Given the description of an element on the screen output the (x, y) to click on. 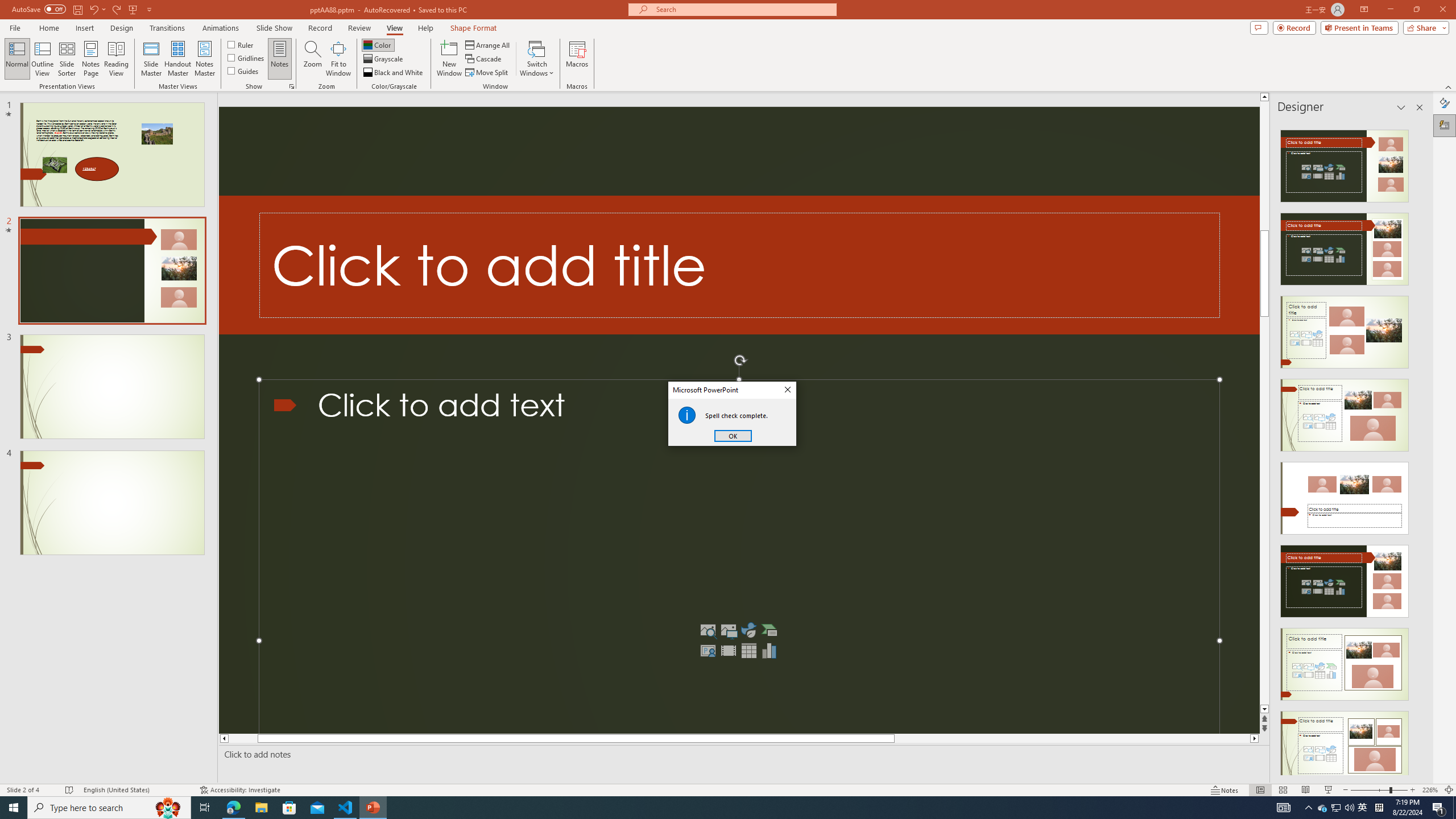
Stock Images (707, 629)
Handout Master (177, 58)
Insert Table (748, 650)
Recommended Design: Design Idea (1344, 162)
Outline View (42, 58)
